Given the description of an element on the screen output the (x, y) to click on. 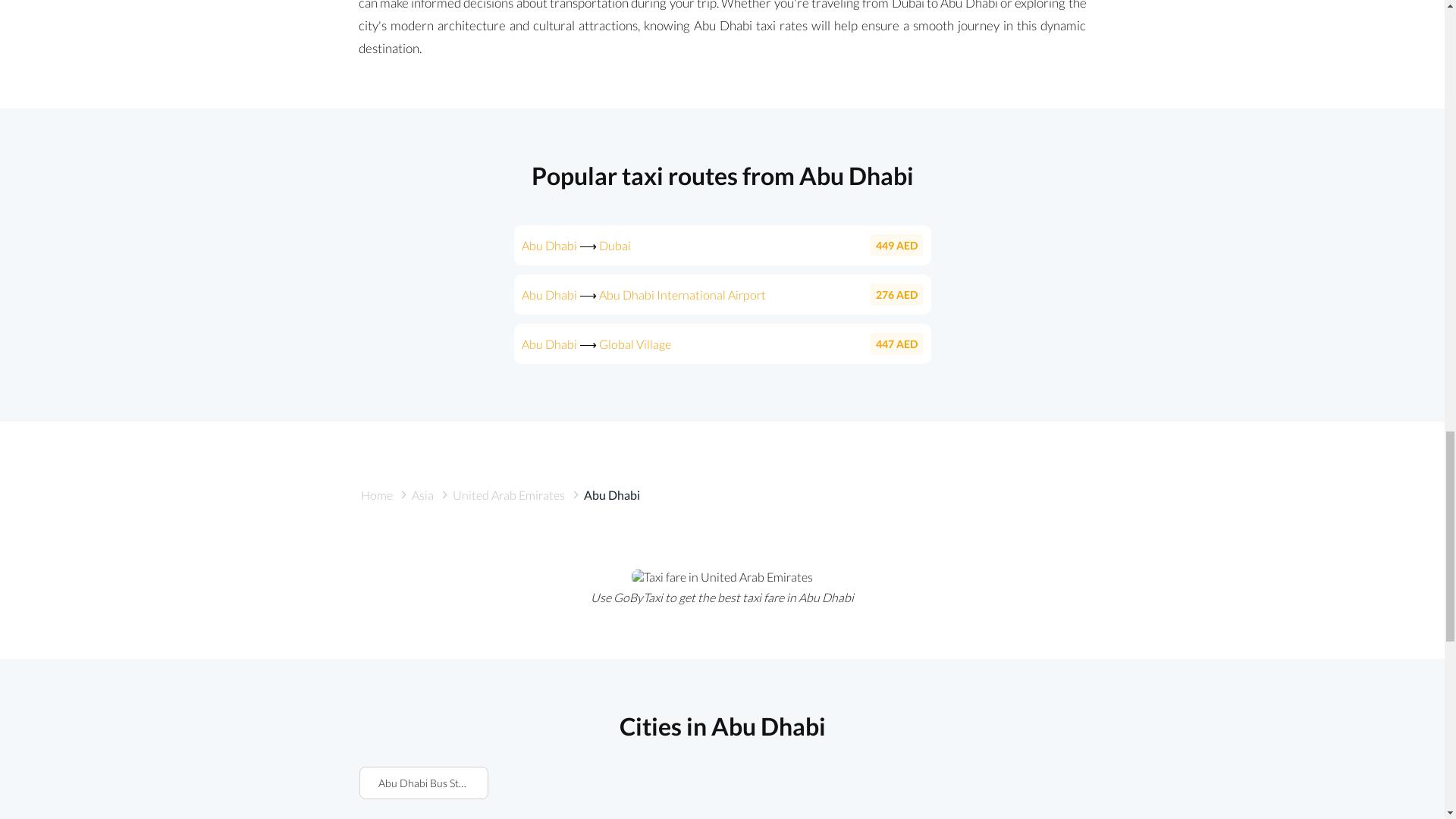
Abu Dhabi Bus Station (423, 782)
Abu Dhabi Bus Station (423, 782)
Abu Dhabi Bus Station (423, 782)
Abu Dhabi (611, 493)
Taxi fare in United Arab Emirates (721, 576)
United Arab Emirates (507, 493)
